Given the description of an element on the screen output the (x, y) to click on. 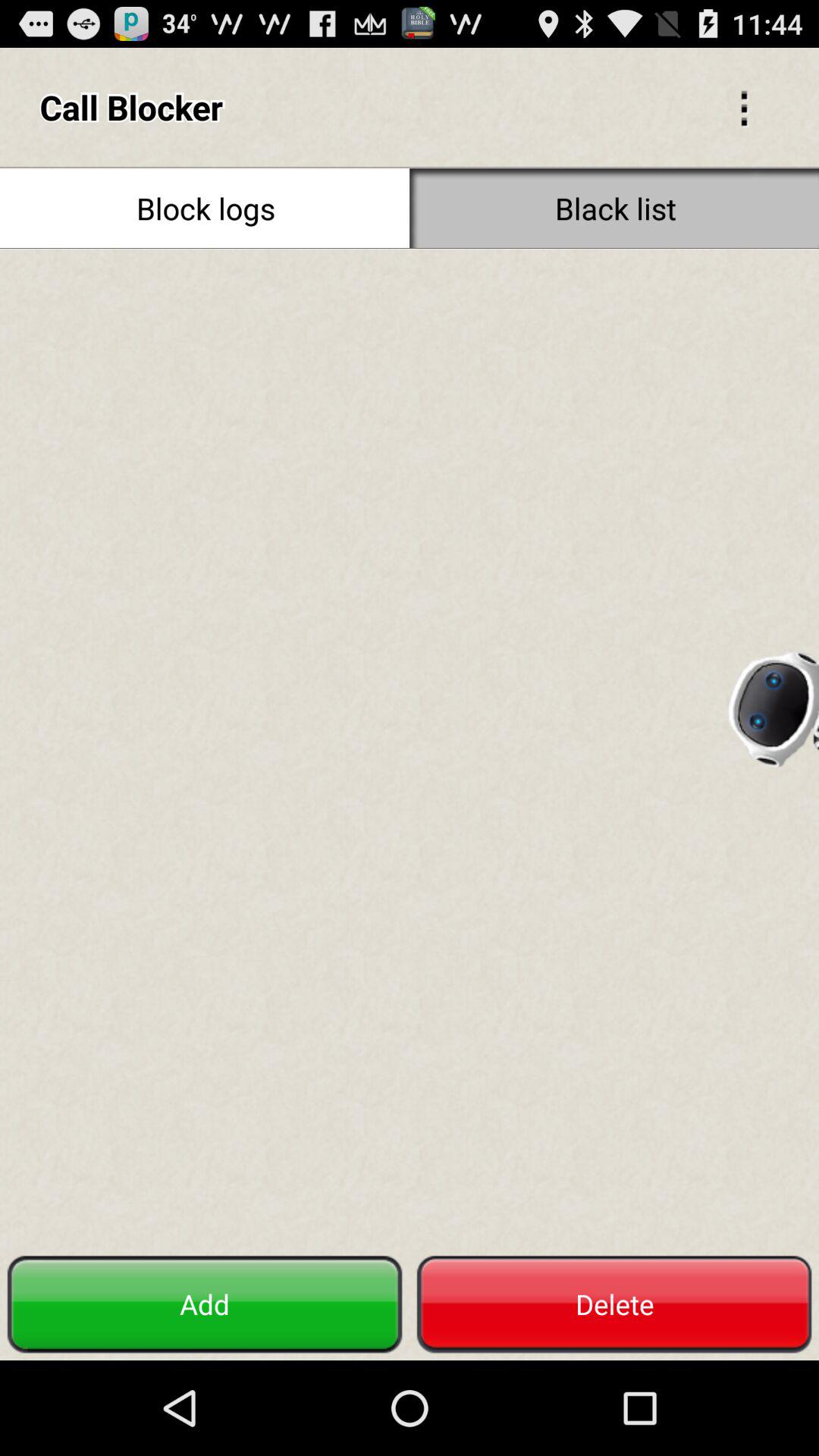
open the icon next to call blocker item (744, 107)
